Given the description of an element on the screen output the (x, y) to click on. 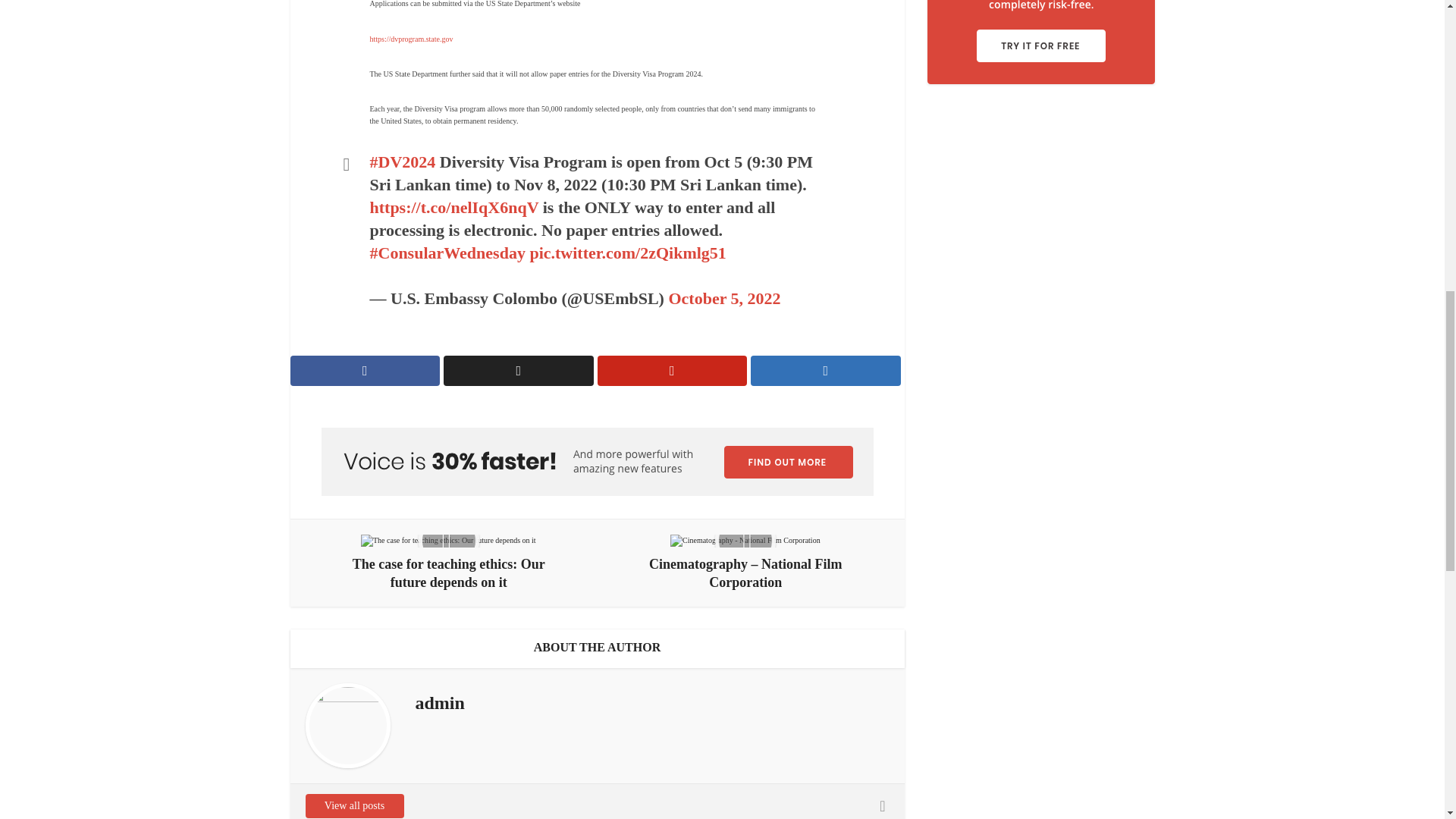
The case for teaching ethics: Our future depends on it (449, 562)
View all posts (353, 805)
October 5, 2022 (724, 298)
